Given the description of an element on the screen output the (x, y) to click on. 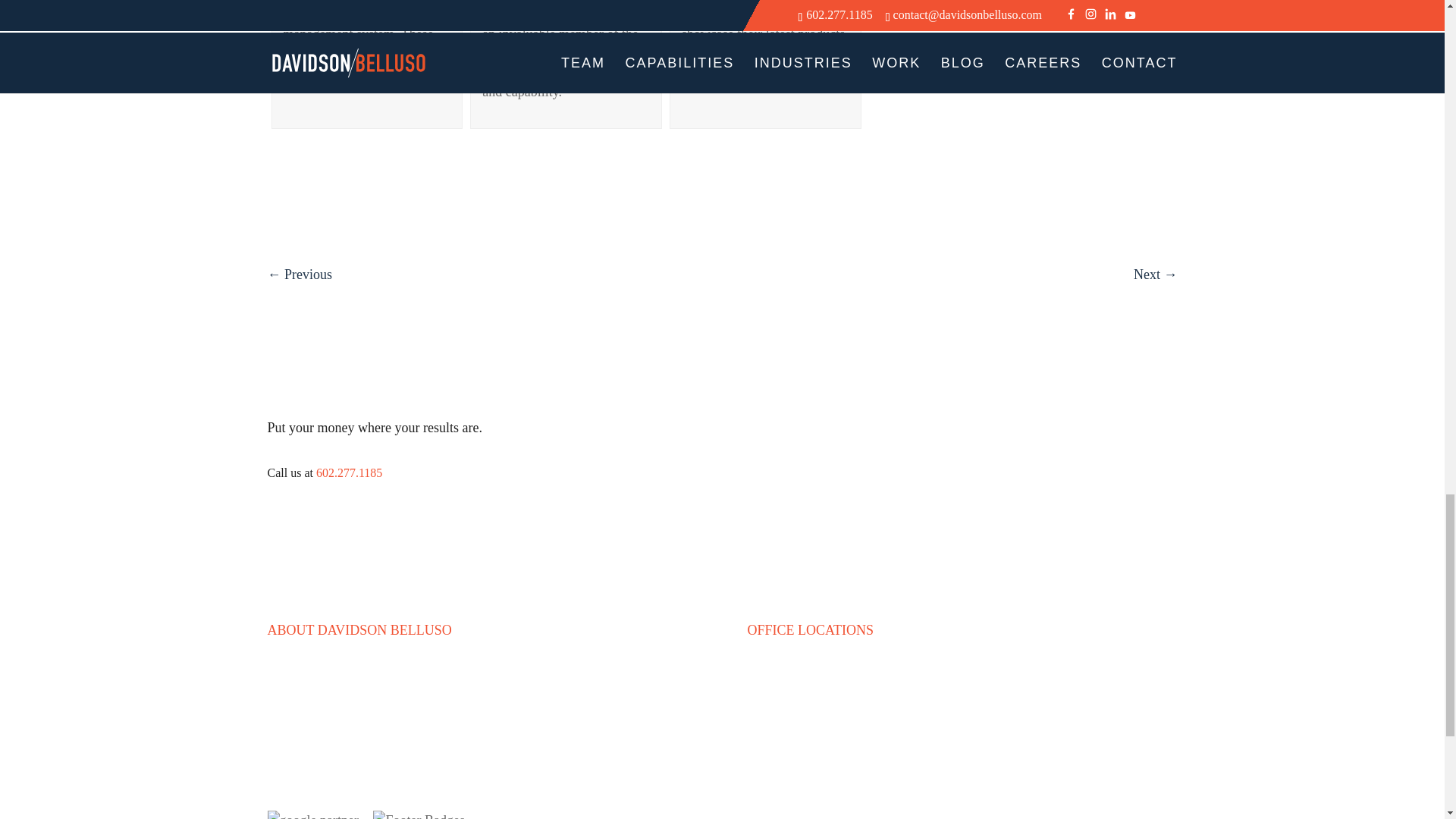
602.277.1185 (348, 472)
